Given the description of an element on the screen output the (x, y) to click on. 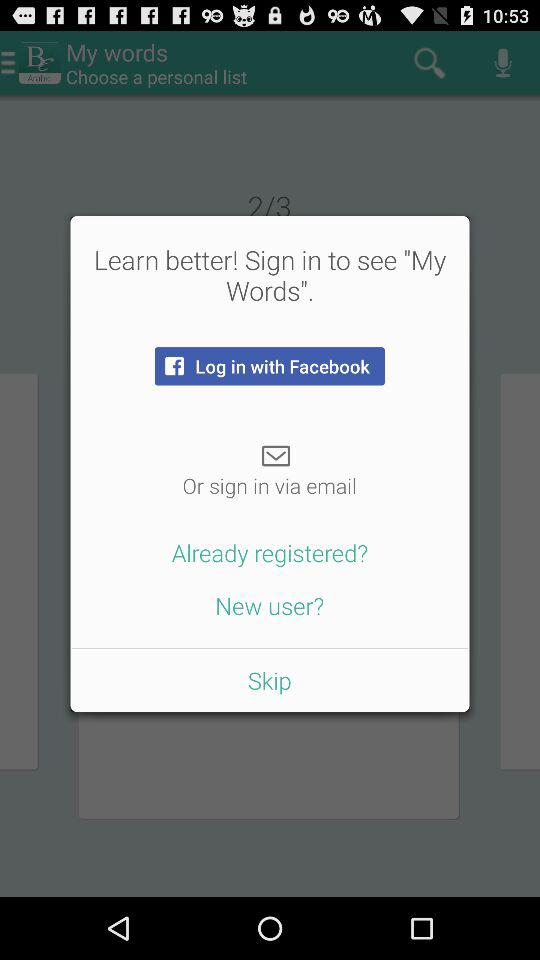
select the already registered? button (269, 552)
